Given the description of an element on the screen output the (x, y) to click on. 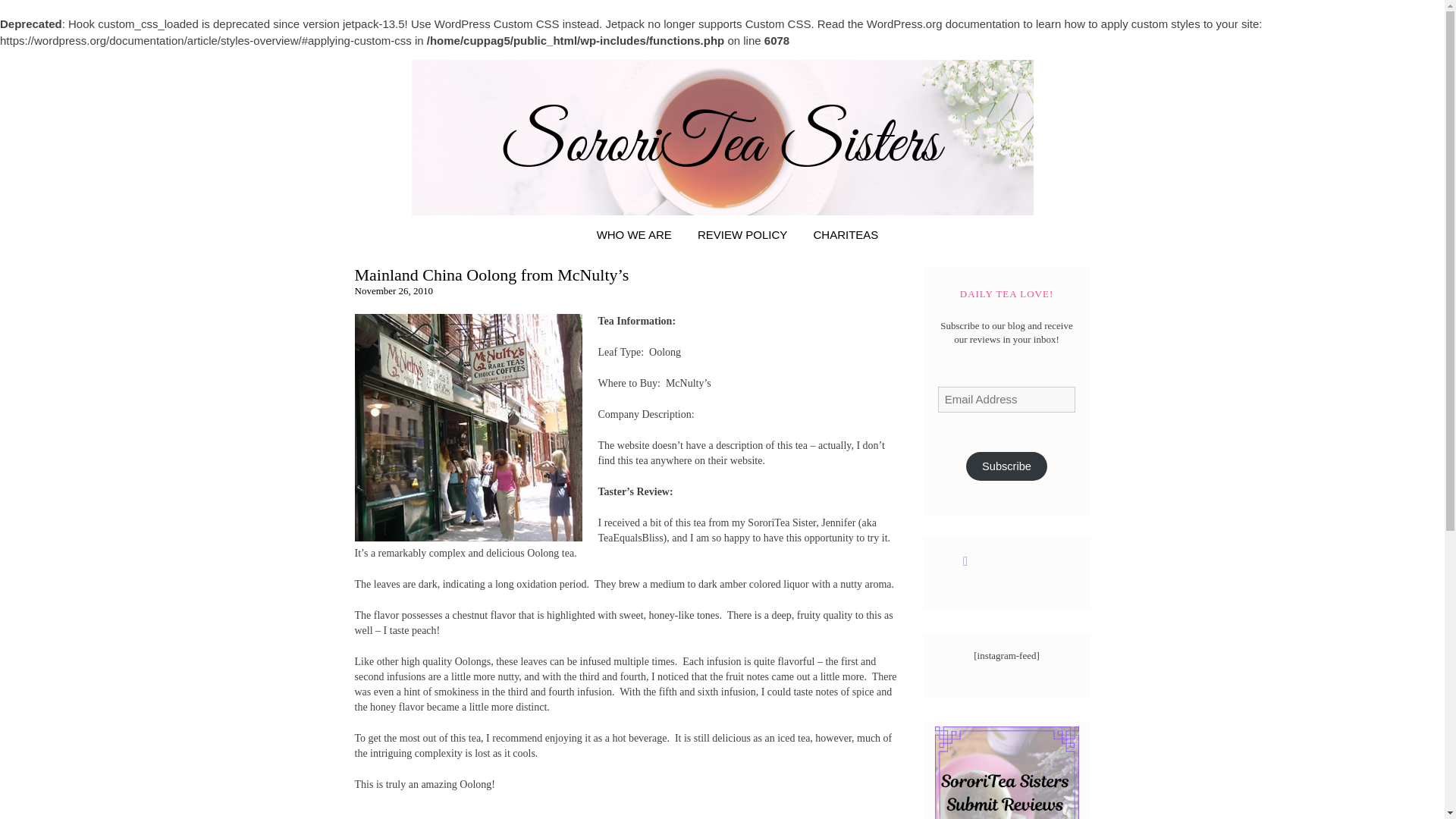
CHARITEAS (845, 234)
Subscribe (1007, 466)
REVIEW POLICY (741, 234)
WHO WE ARE (633, 234)
